Given the description of an element on the screen output the (x, y) to click on. 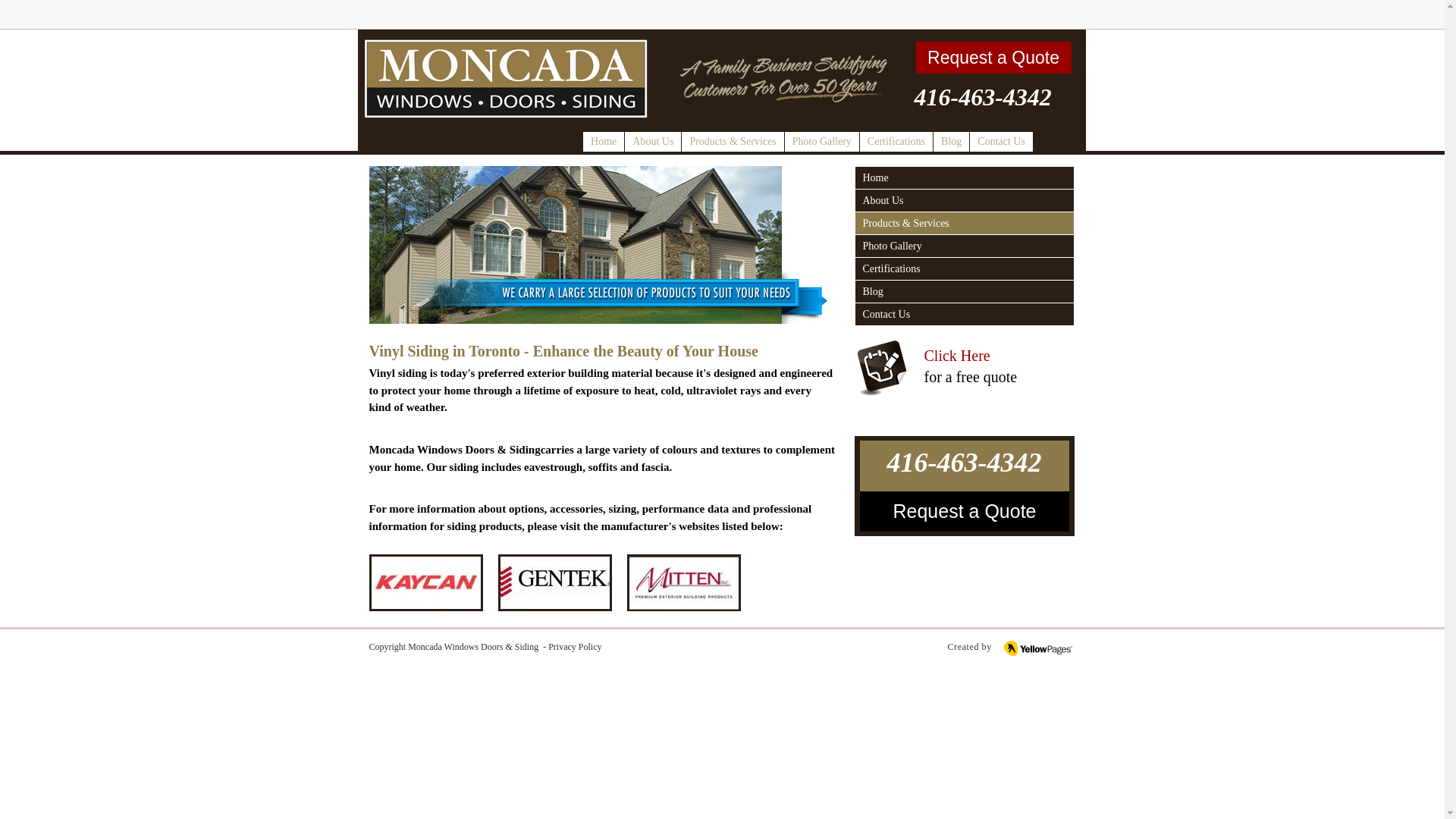
Embedded Content (943, 22)
Certifications (896, 141)
About Us (652, 141)
About Us (965, 200)
Home (603, 141)
Home (965, 178)
416-463-4342 (982, 96)
Embedded Content (1050, 13)
Contact Us (1000, 141)
Request a Quote (993, 57)
